Given the description of an element on the screen output the (x, y) to click on. 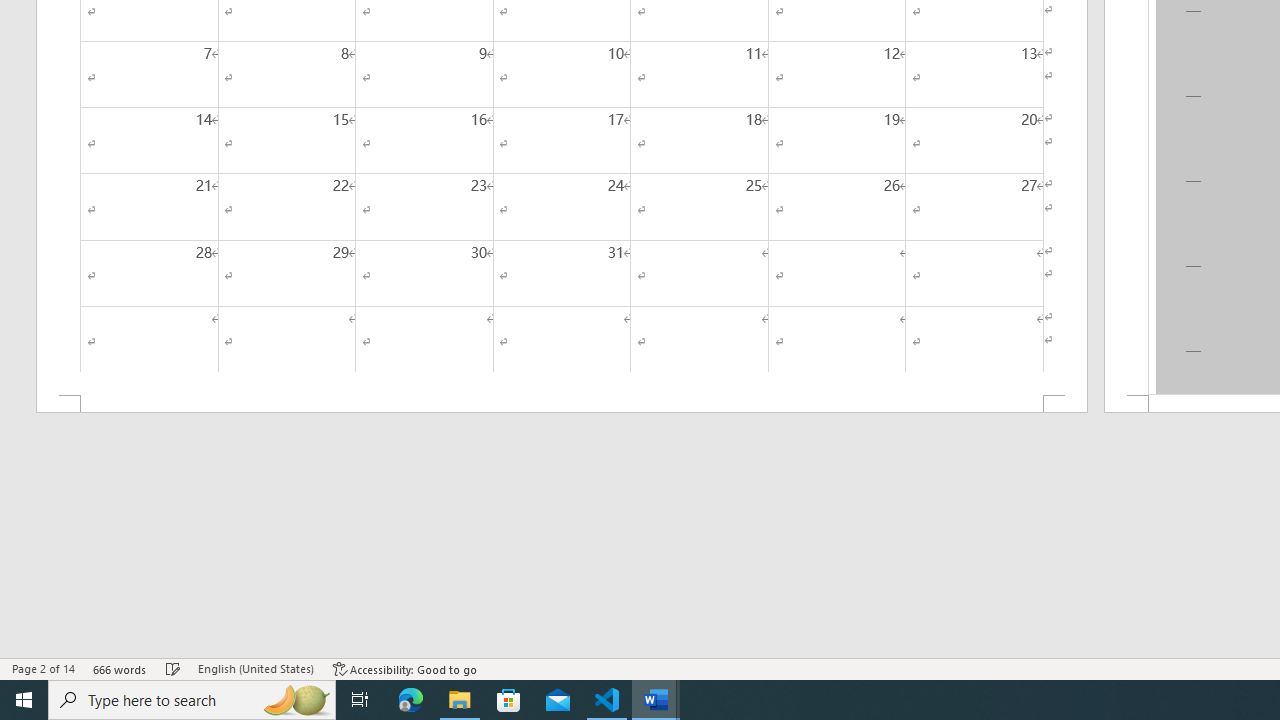
Microsoft Edge (411, 699)
Language English (United States) (255, 668)
